Given the description of an element on the screen output the (x, y) to click on. 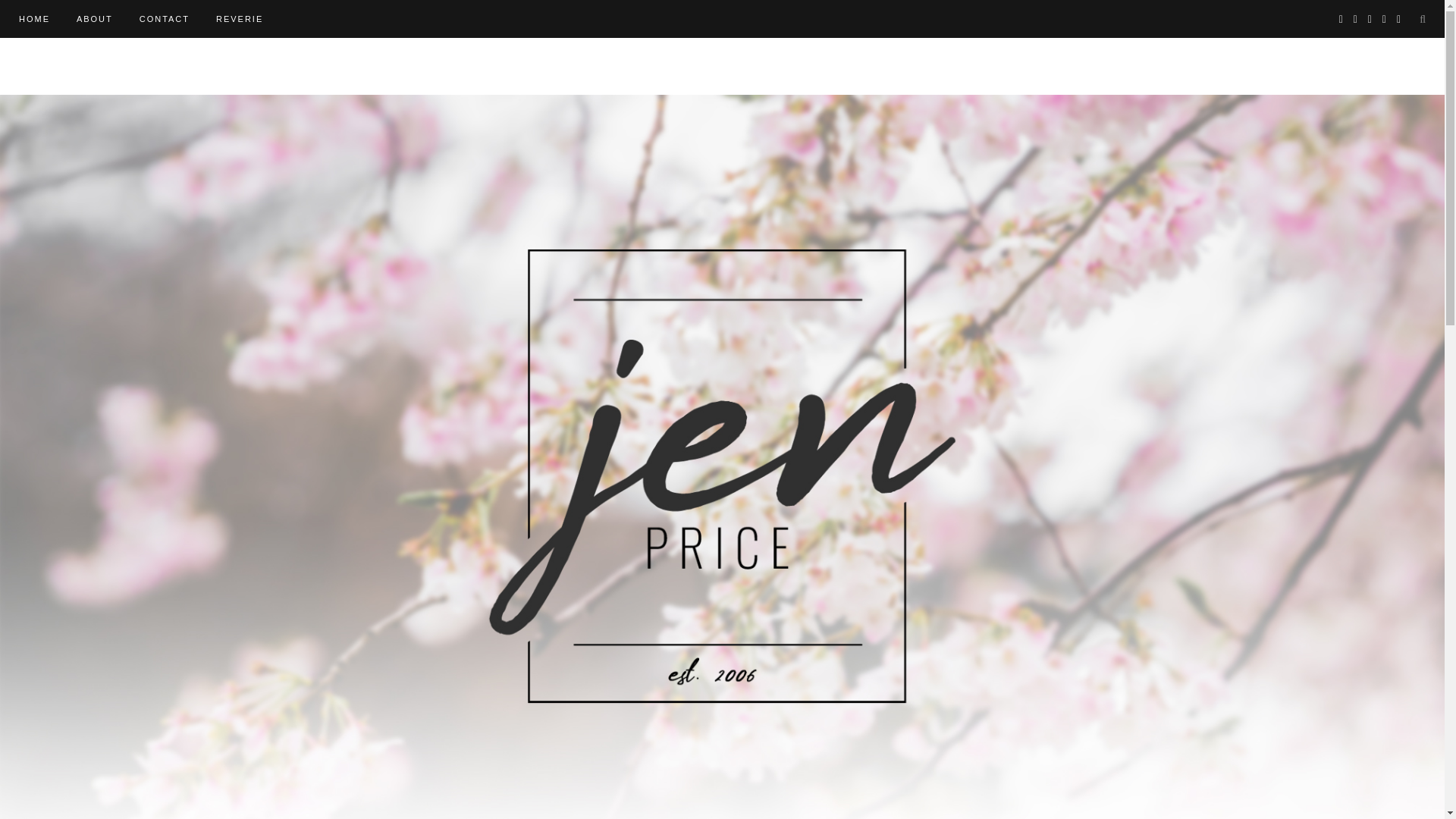
ABOUT (95, 18)
CONTACT (164, 18)
REVERIE (239, 18)
